Given the description of an element on the screen output the (x, y) to click on. 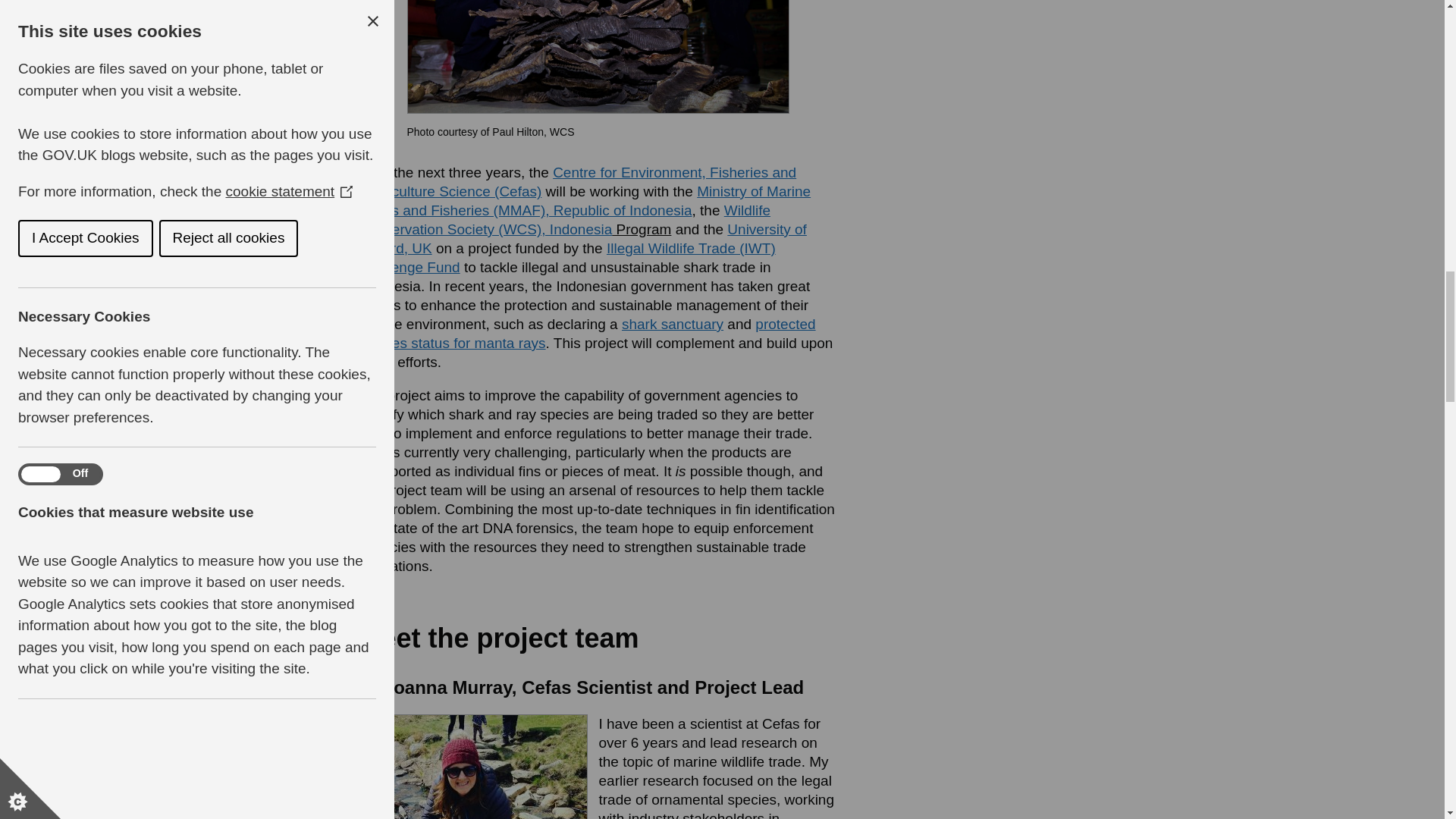
protected species status for manta rays (586, 333)
shark sanctuary (672, 324)
University of Salford, UK (582, 238)
